Given the description of an element on the screen output the (x, y) to click on. 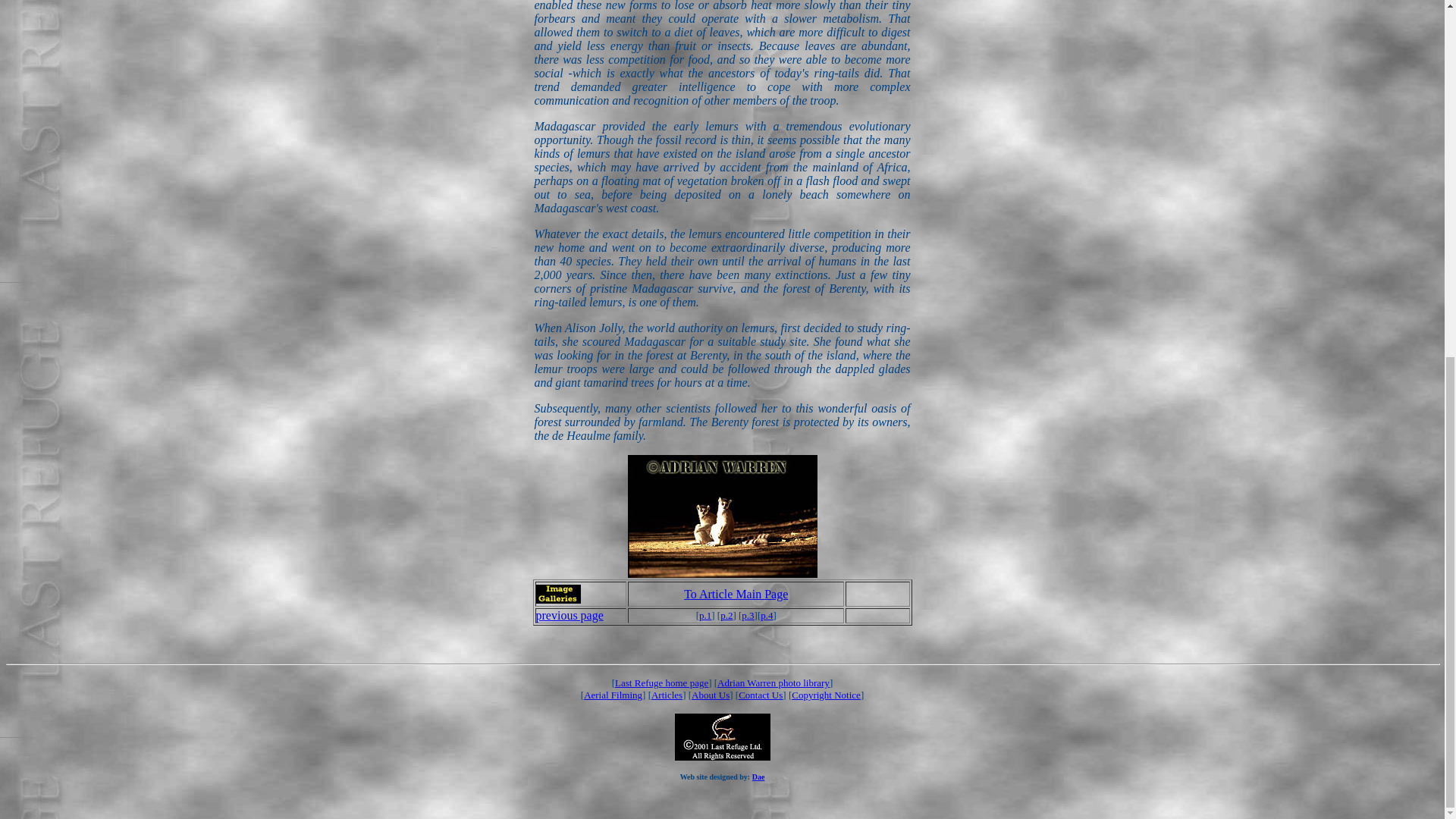
Contact Us (760, 695)
Aerial Filming (612, 695)
p.3 (747, 614)
To Article Main Page (735, 593)
p.4 (766, 614)
Last Refuge home page (660, 682)
Adrian Warren photo library (773, 682)
p.1 (704, 614)
p.2 (726, 614)
Articles (666, 695)
About Us (710, 695)
Dae (758, 777)
Copyright Notice (826, 695)
previous page (568, 615)
